Given the description of an element on the screen output the (x, y) to click on. 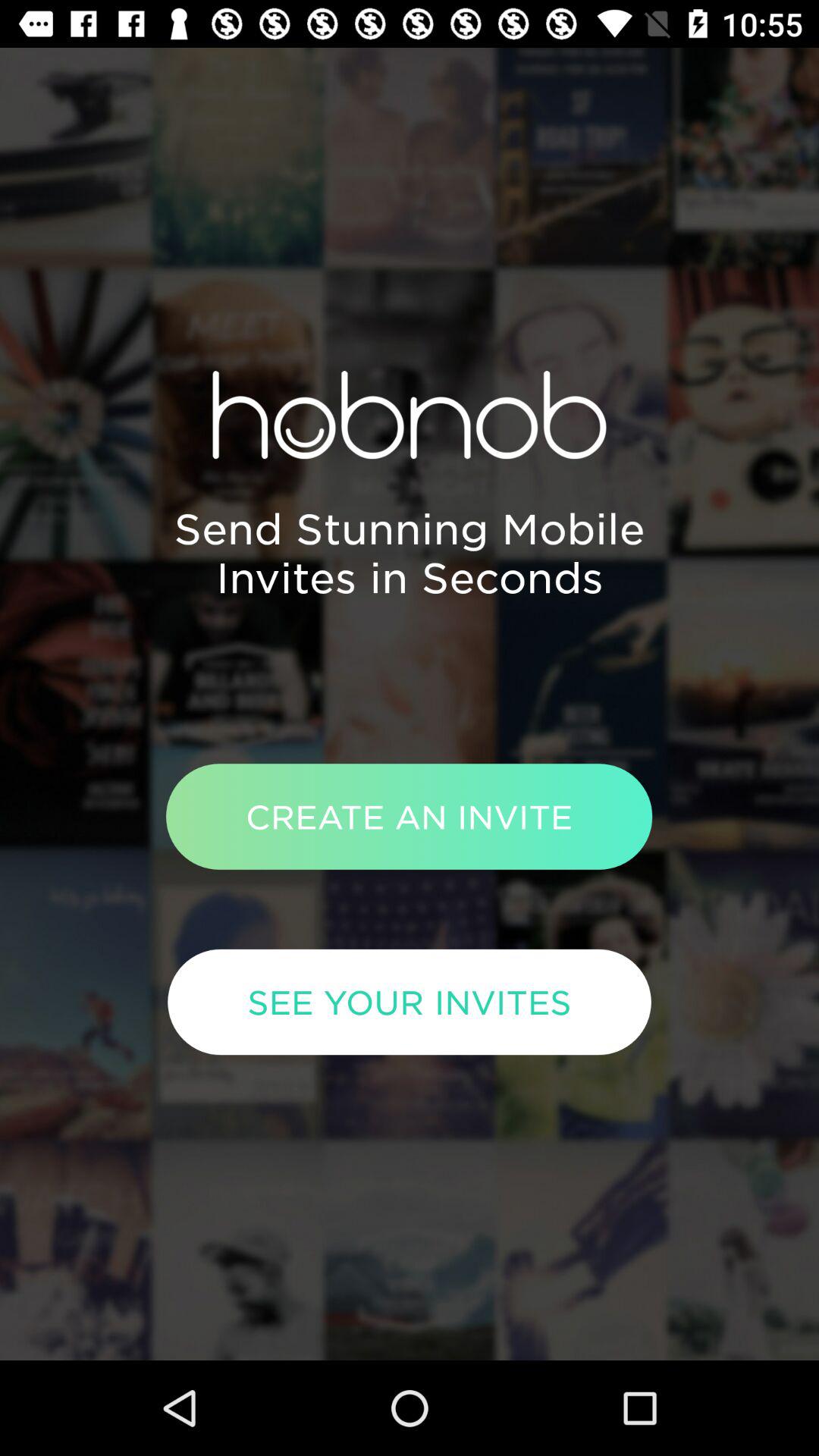
swipe until see your invites item (409, 1002)
